Given the description of an element on the screen output the (x, y) to click on. 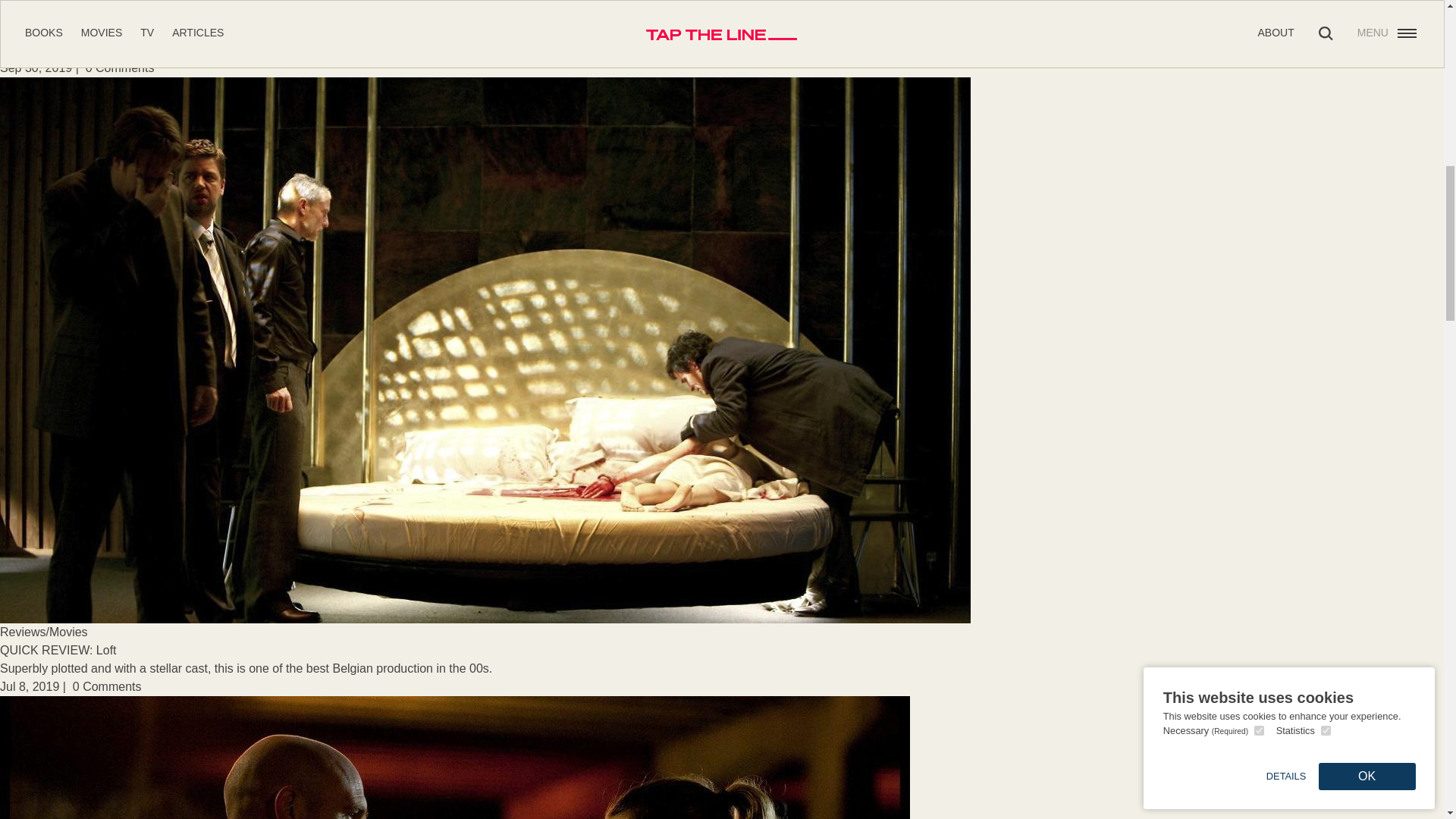
QUICK REVIEW: Loft (58, 649)
MICRO-REVIEW: 13 Commandments (102, 31)
0 Comments (119, 67)
0 Comments (106, 686)
